Given the description of an element on the screen output the (x, y) to click on. 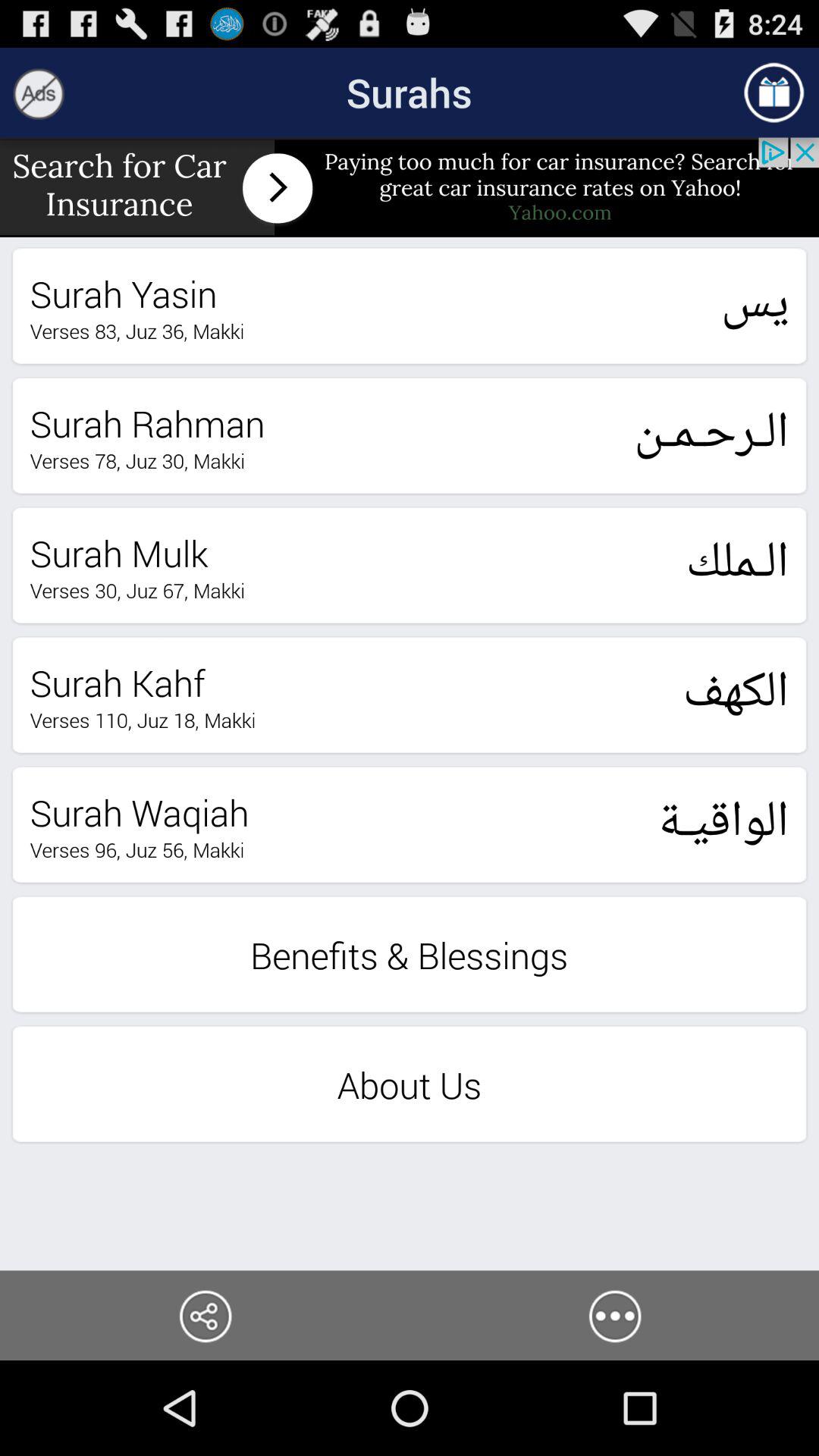
give gift (774, 92)
